Given the description of an element on the screen output the (x, y) to click on. 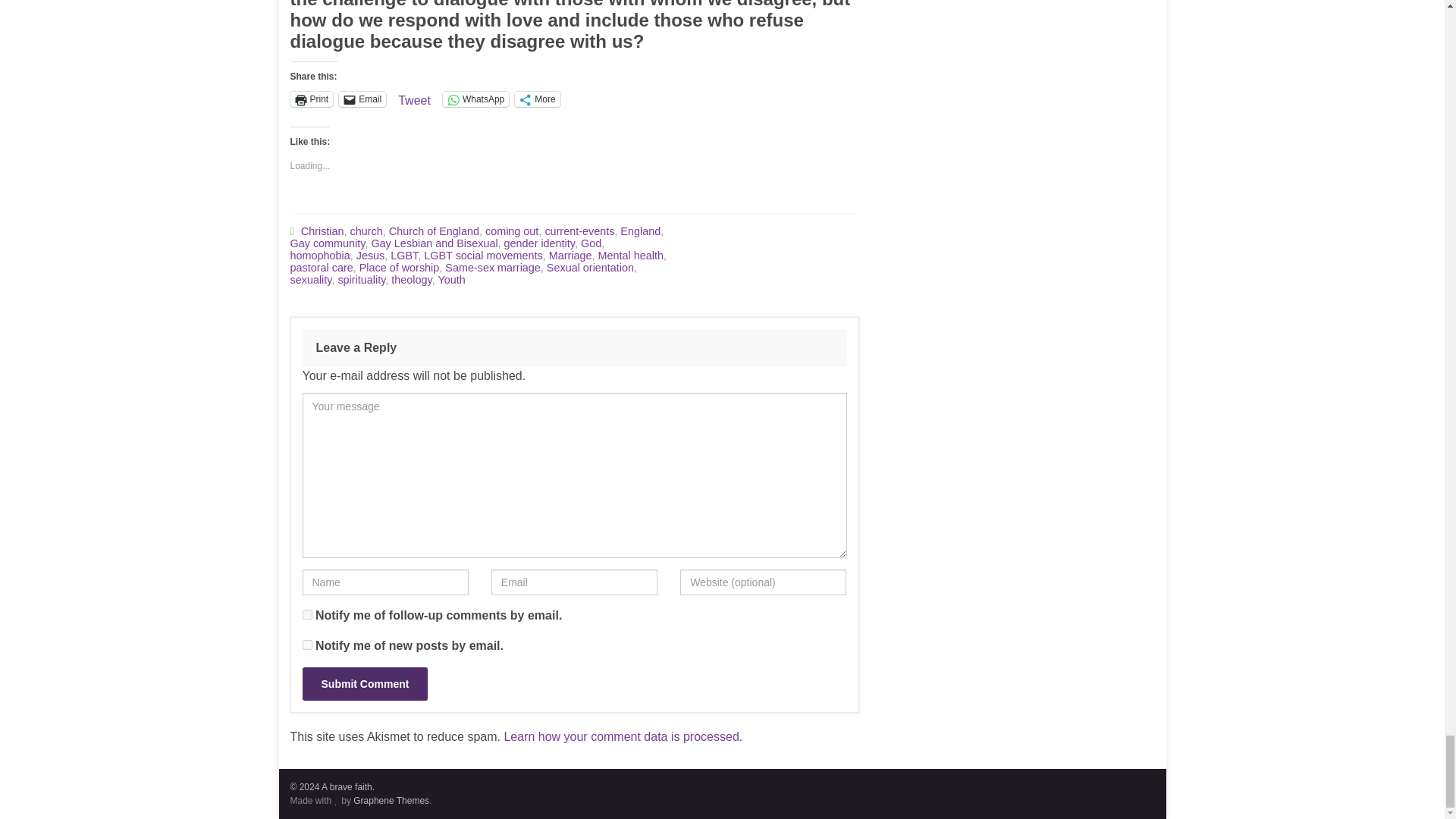
Click to print (311, 99)
Click to share on WhatsApp (475, 99)
Click to email a link to a friend (362, 99)
subscribe (306, 644)
subscribe (306, 614)
Submit Comment (364, 684)
